Given the description of an element on the screen output the (x, y) to click on. 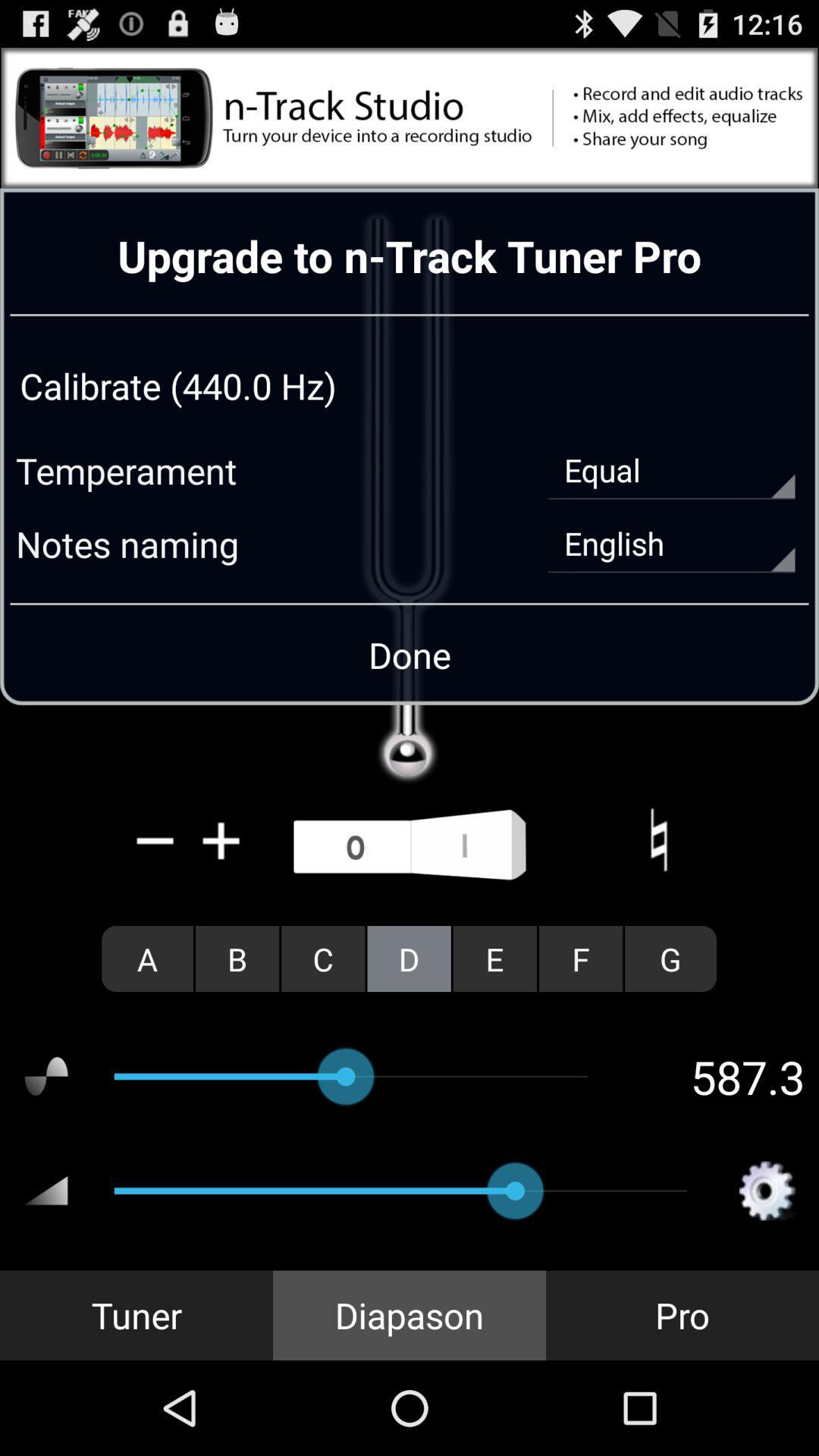
choose the icon above a (221, 840)
